Given the description of an element on the screen output the (x, y) to click on. 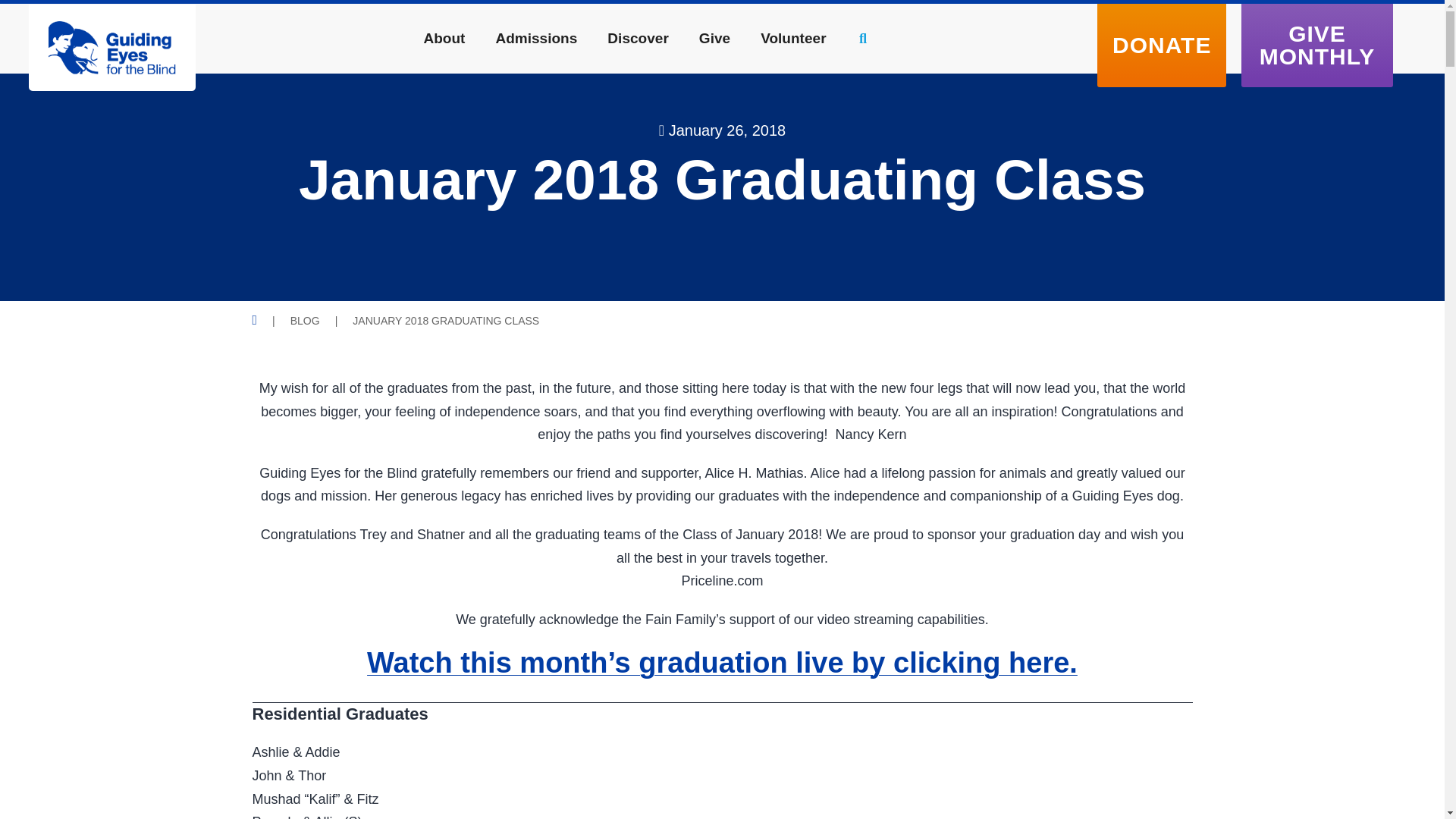
Give (714, 38)
About (443, 38)
Admissions (536, 38)
Discover (637, 38)
